Given the description of an element on the screen output the (x, y) to click on. 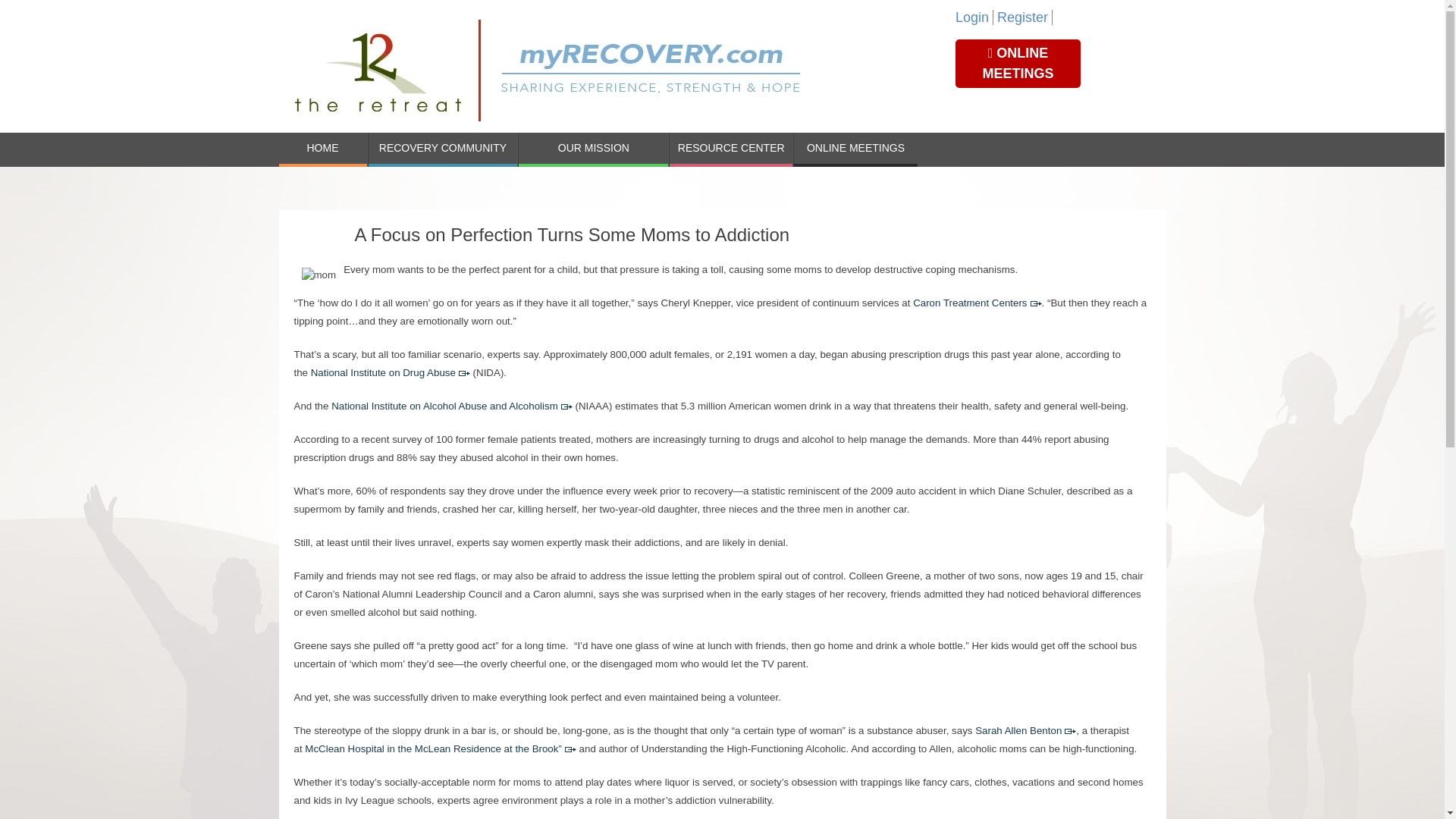
ONLINE MEETINGS (855, 149)
Caron Treatment Centers (969, 302)
RECOVERY COMMUNITY (443, 149)
HOME (322, 149)
OUR MISSION (593, 149)
Sarah Allen Benton (1018, 730)
National Institute on Drug Abuse (383, 372)
Register (1024, 17)
ONLINE MEETINGS (1017, 63)
National Institute on Alcohol Abuse and Alcoholism (444, 405)
RESOURCE CENTER (730, 149)
Login (973, 17)
